Given the description of an element on the screen output the (x, y) to click on. 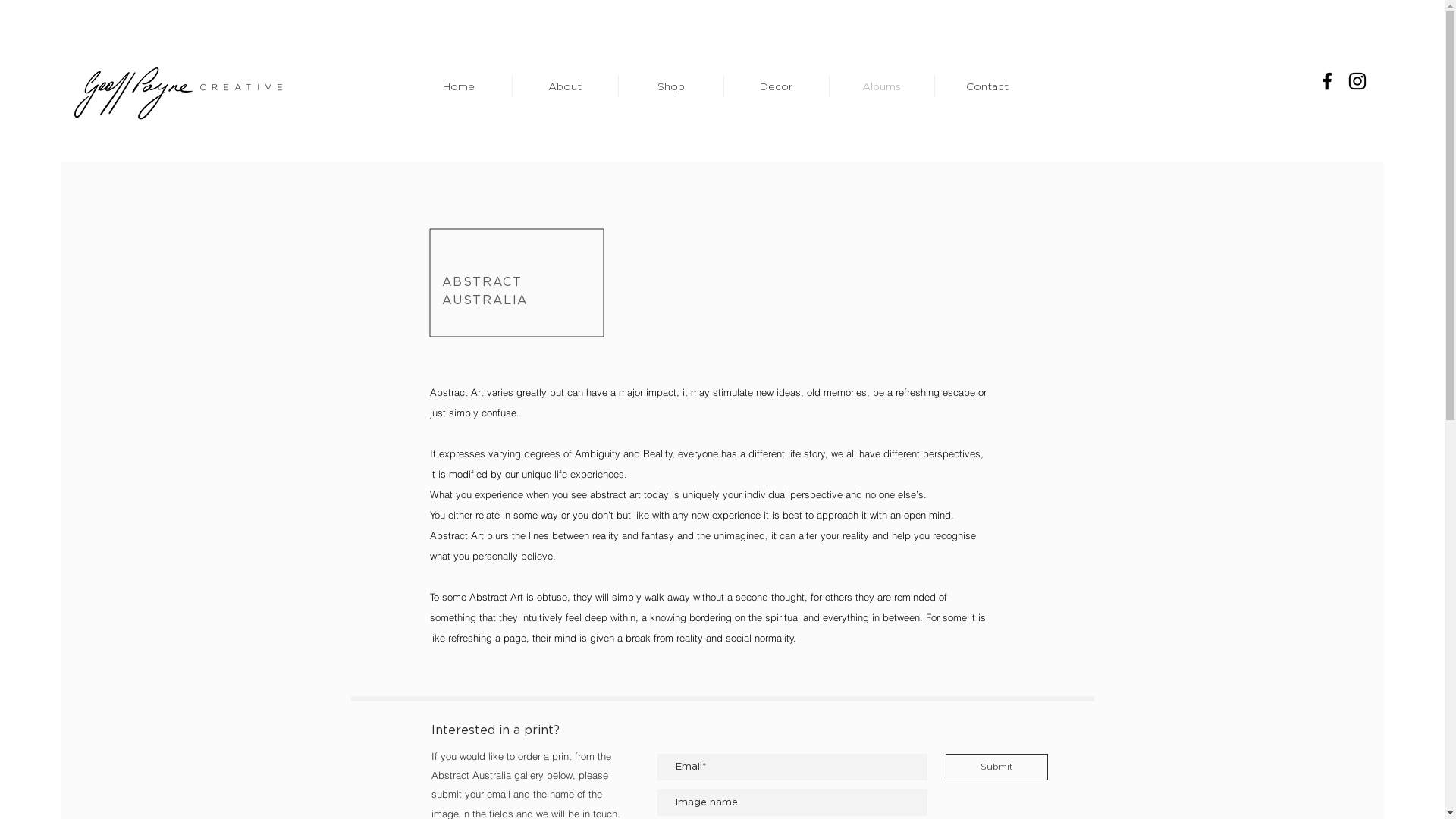
Albums Element type: text (881, 86)
Submit Element type: text (995, 766)
Home Element type: text (457, 86)
Shop Element type: text (670, 86)
Decor Element type: text (775, 86)
payne.geoff@bigpond.com Element type: text (1257, 103)
Contact Element type: text (986, 86)
About Element type: text (565, 86)
+61 418 428 398 Element type: text (1228, 128)
